Given the description of an element on the screen output the (x, y) to click on. 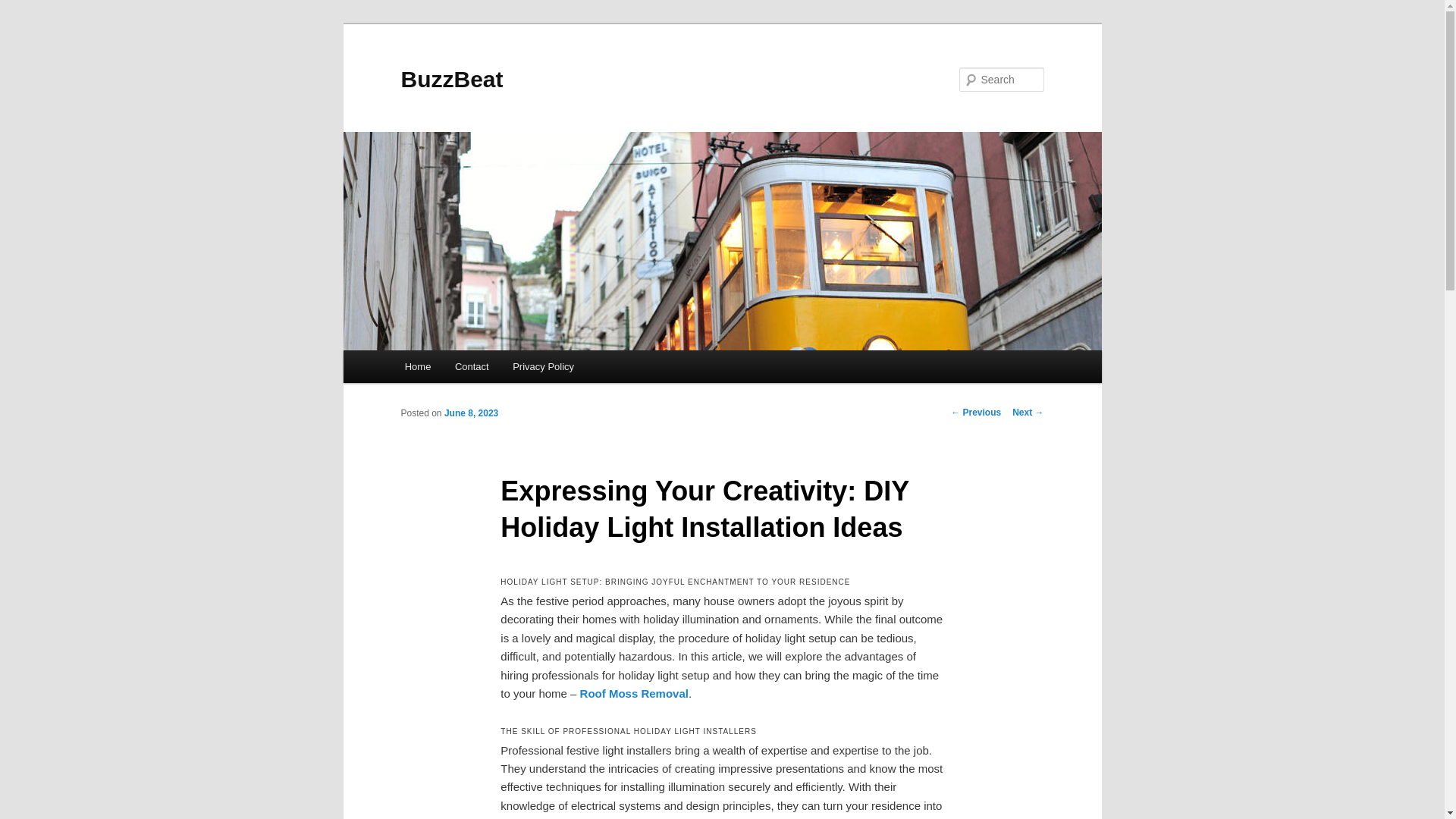
Home (417, 366)
Privacy Policy (542, 366)
5:15 am (470, 412)
Search (24, 8)
Roof Moss Removal (633, 693)
BuzzBeat (451, 78)
June 8, 2023 (470, 412)
Contact (471, 366)
